Given the description of an element on the screen output the (x, y) to click on. 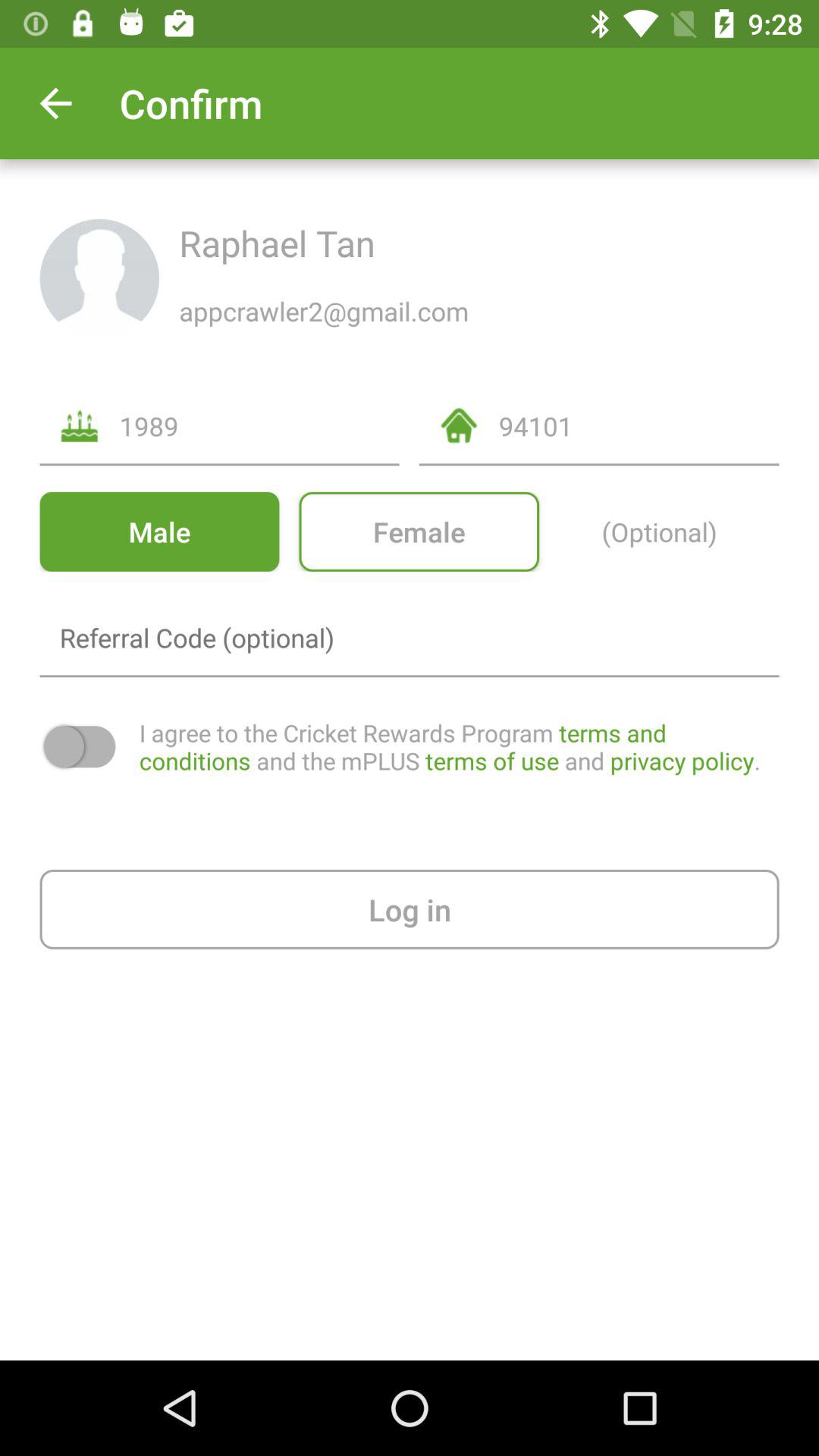
jump to the 1989 icon (259, 425)
